Given the description of an element on the screen output the (x, y) to click on. 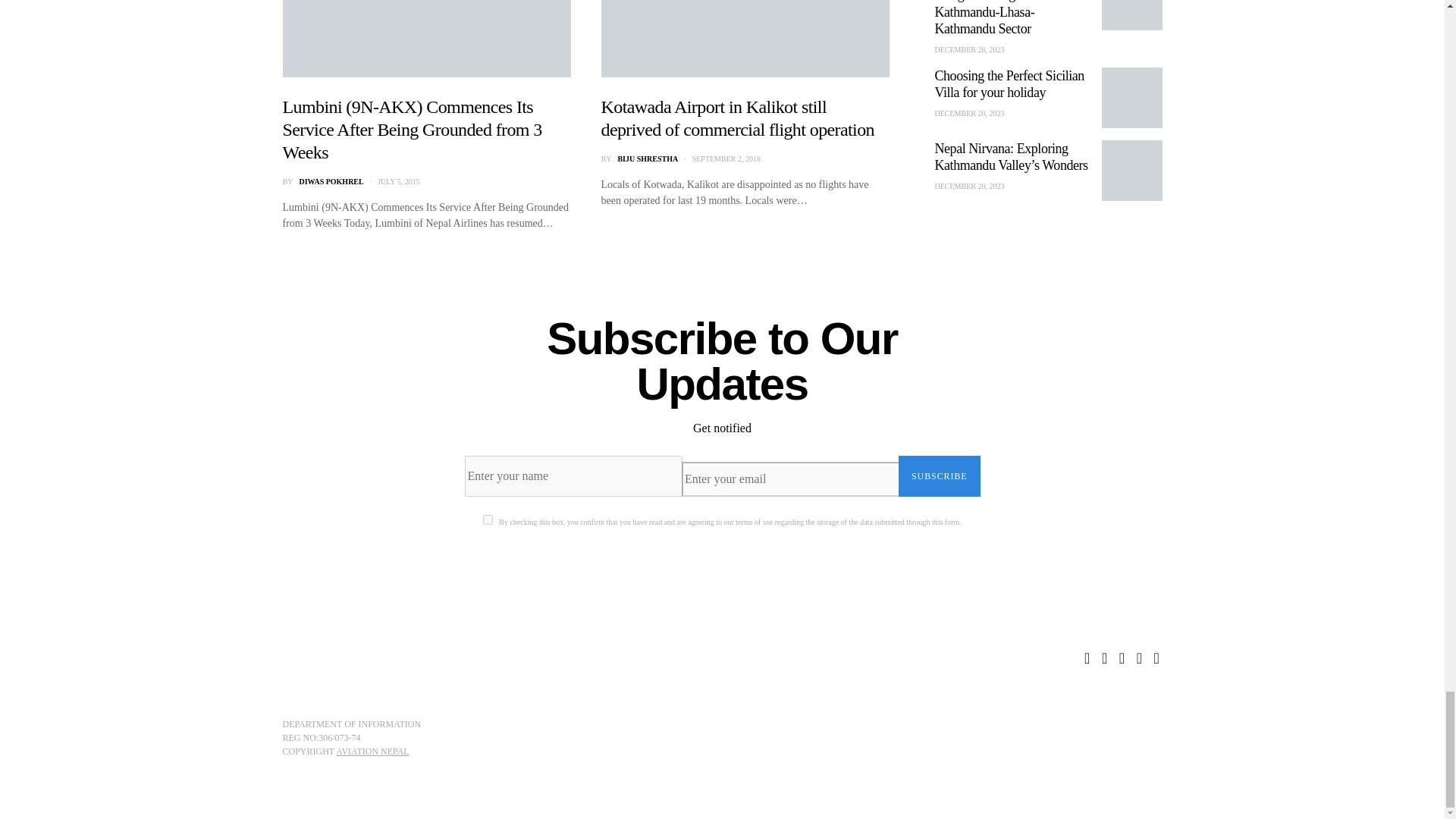
View all posts by Biju Shrestha (647, 158)
on (488, 519)
View all posts by Diwas Pokhrel (330, 181)
